Given the description of an element on the screen output the (x, y) to click on. 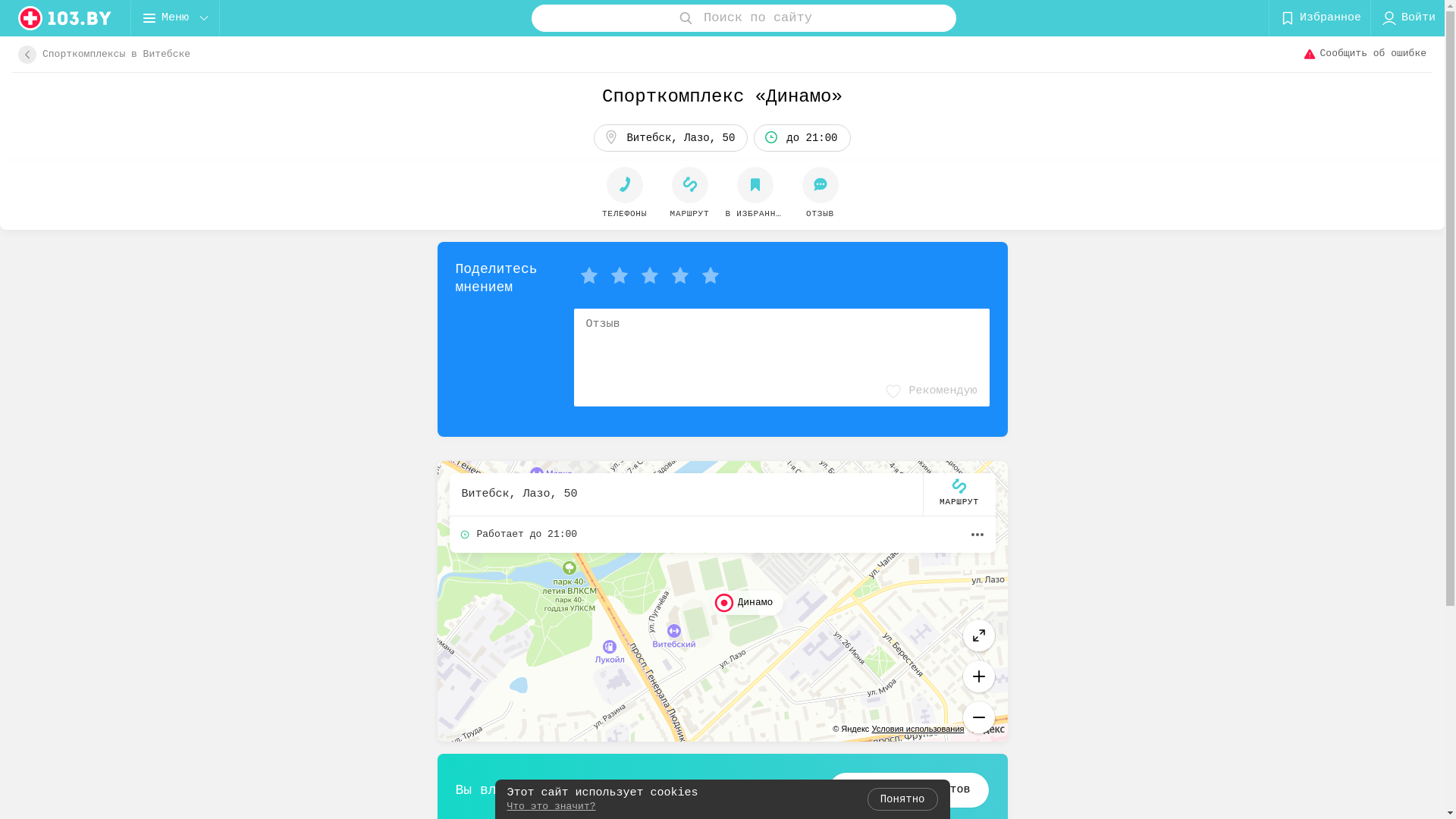
logo Element type: hover (65, 18)
